Given the description of an element on the screen output the (x, y) to click on. 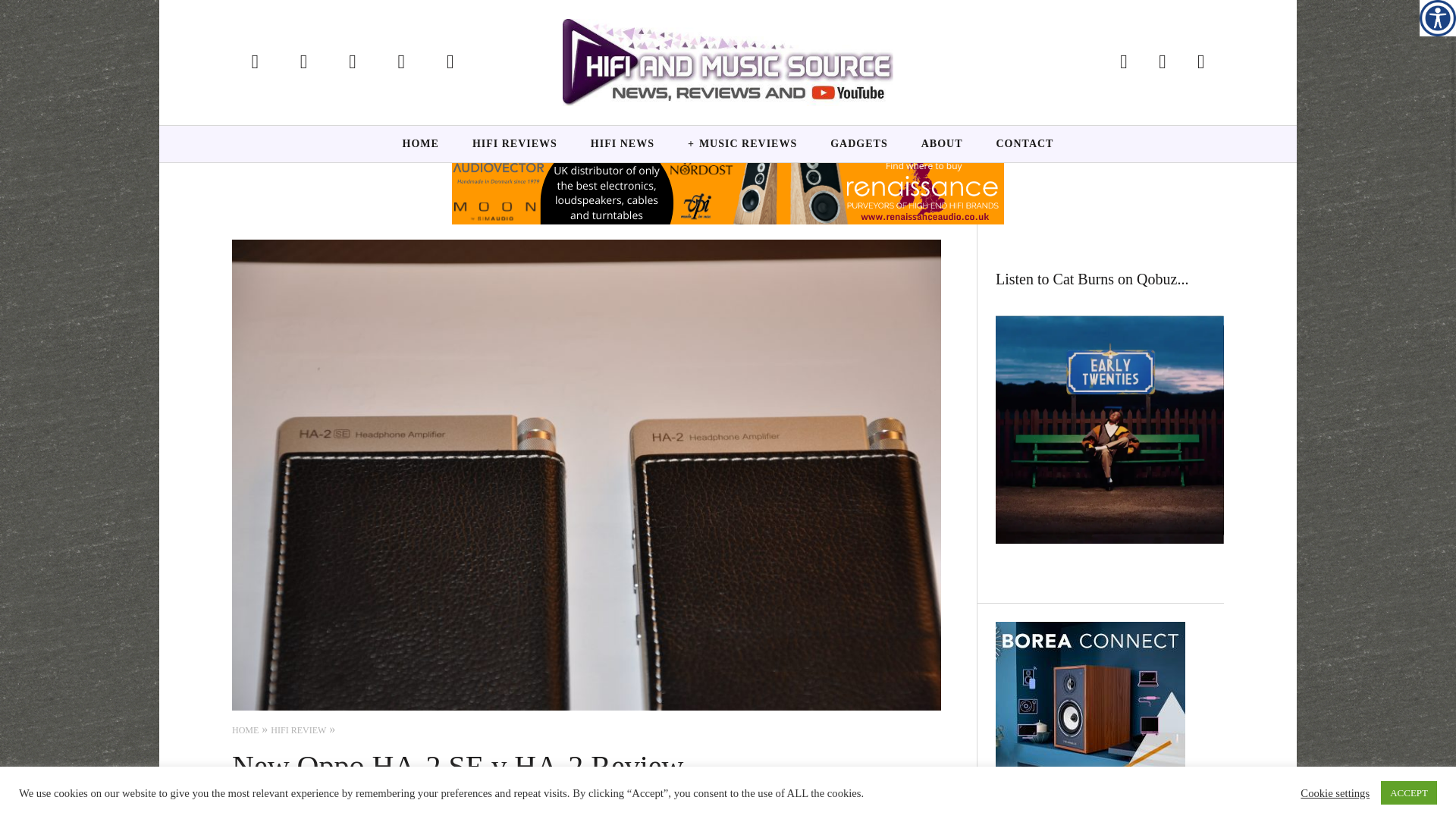
HOME (420, 144)
HIFI REVIEW (298, 730)
MUSIC REVIEWS (742, 144)
GADGETS (858, 144)
ABOUT (942, 144)
HiFi and Music Source (727, 62)
HIFI NEWS (622, 144)
HOME (245, 730)
View all posts filed under HiFi Review (298, 730)
HIFI REVIEWS (514, 144)
CONTACT (1024, 144)
